Given the description of an element on the screen output the (x, y) to click on. 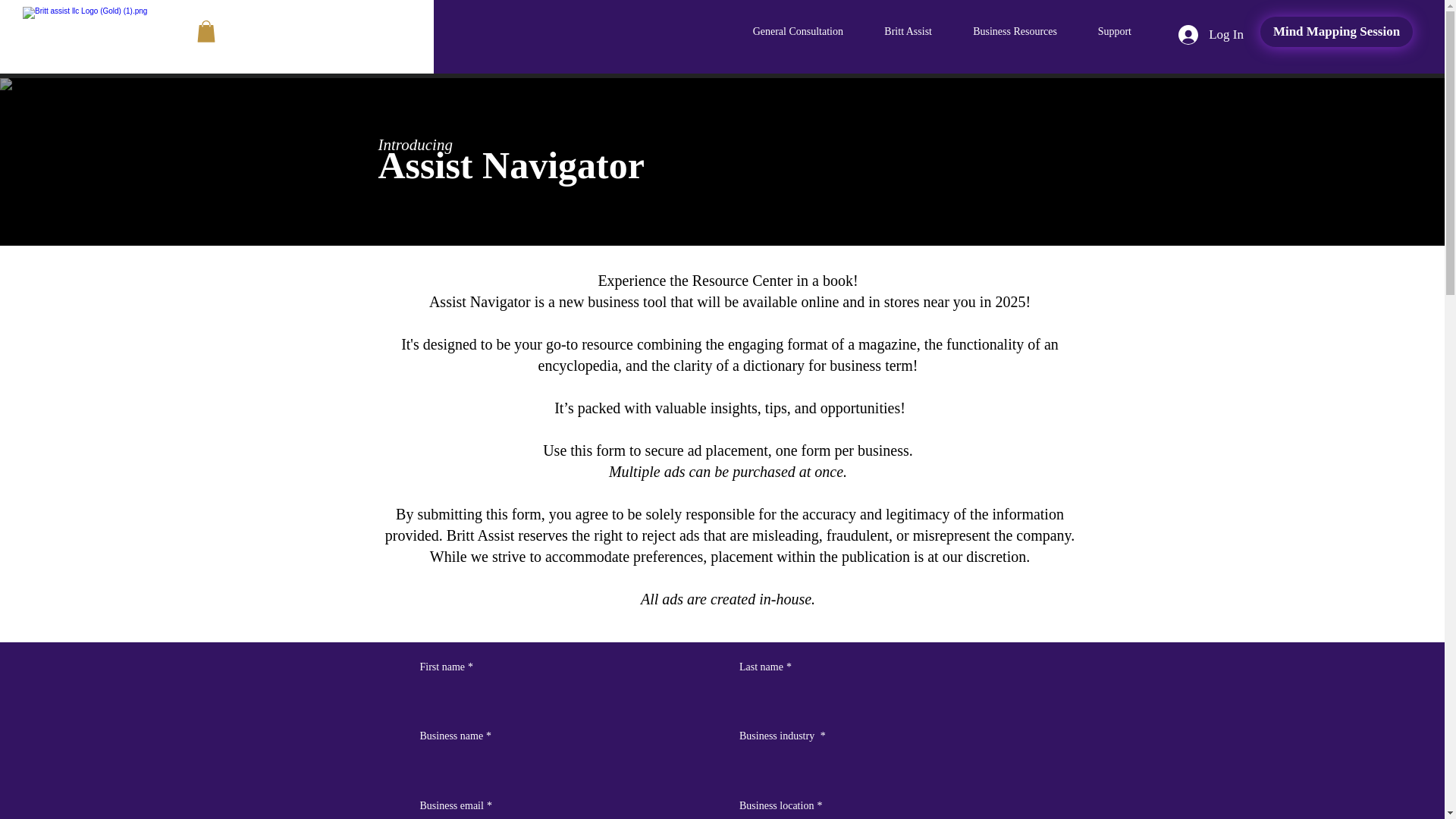
General Consultation (788, 31)
Log In (1210, 34)
Mind Mapping Session (1336, 31)
